Given the description of an element on the screen output the (x, y) to click on. 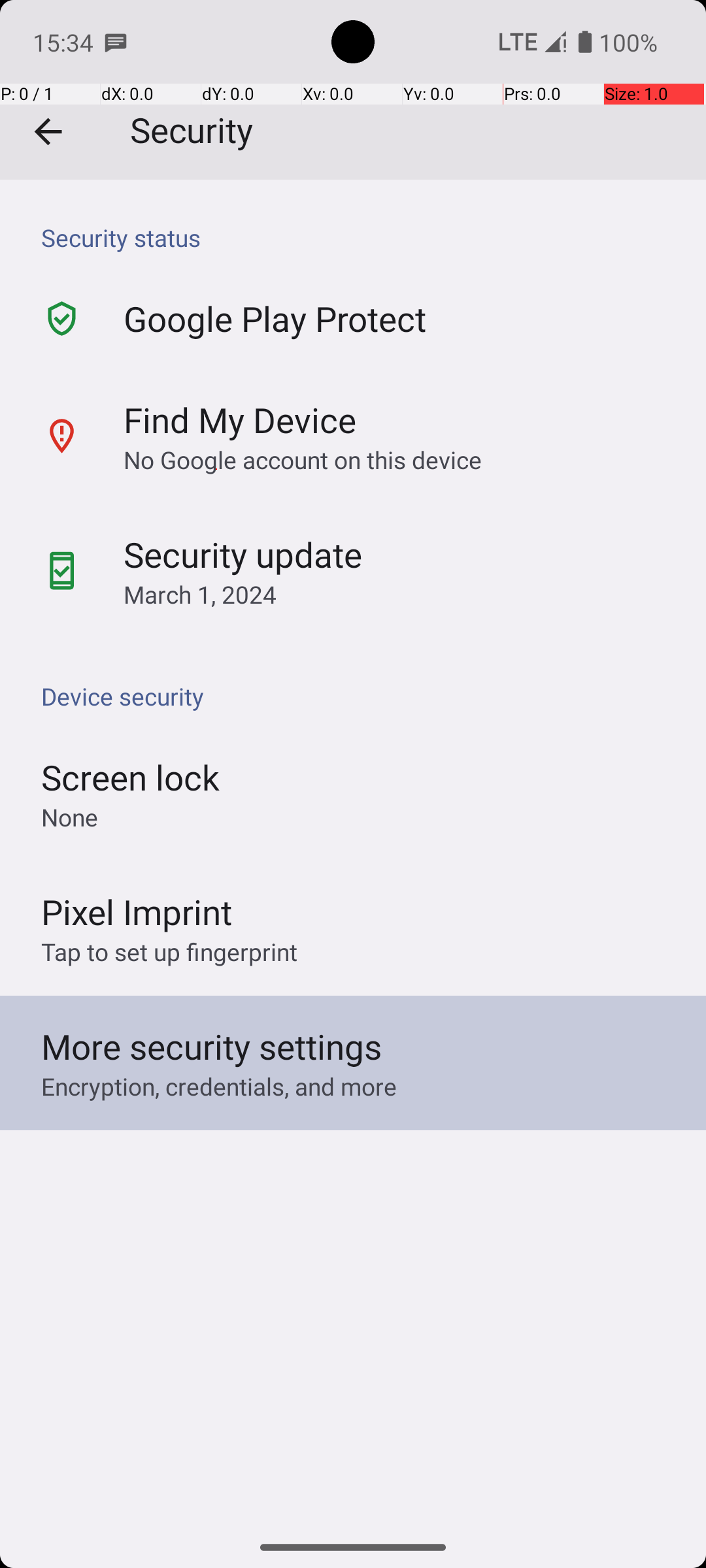
Security Element type: android.widget.FrameLayout (353, 89)
Security status Element type: android.widget.TextView (359, 237)
Google Play Protect Element type: android.widget.TextView (274, 318)
Find My Device Element type: android.widget.TextView (239, 419)
No Google account on this device Element type: android.widget.TextView (302, 459)
Security update Element type: android.widget.TextView (242, 554)
March 1, 2024 Element type: android.widget.TextView (199, 593)
Device security Element type: android.widget.TextView (359, 695)
Screen lock Element type: android.widget.TextView (130, 776)
Pixel Imprint Element type: android.widget.TextView (136, 911)
Tap to set up fingerprint Element type: android.widget.TextView (169, 951)
More security settings Element type: android.widget.TextView (211, 1046)
Encryption, credentials, and more Element type: android.widget.TextView (218, 1085)
